Given the description of an element on the screen output the (x, y) to click on. 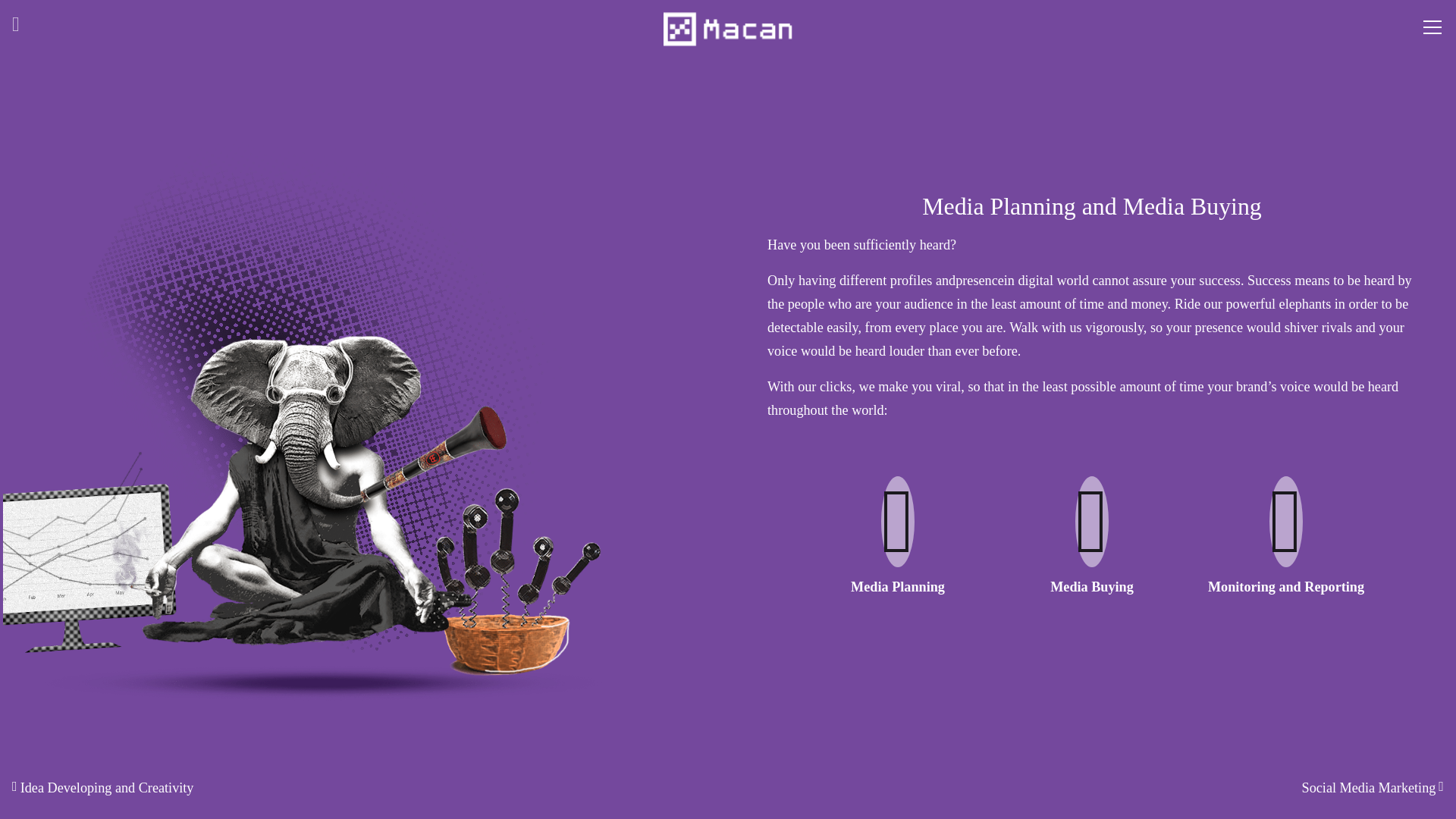
Social Media Marketing (1372, 786)
Idea Developing and Creativity (102, 786)
